Given the description of an element on the screen output the (x, y) to click on. 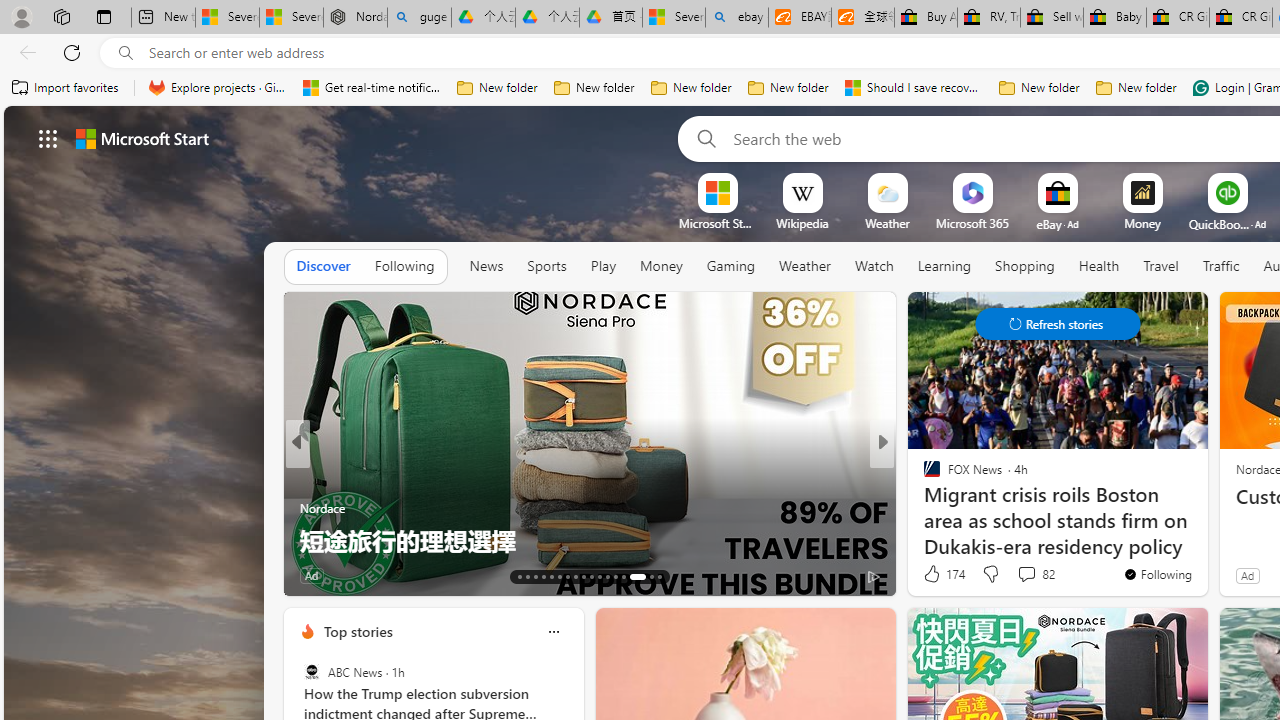
AutomationID: tab-13 (518, 576)
Weather (804, 267)
Money (661, 267)
Shopping (1025, 265)
Shopping (1025, 267)
Search icon (125, 53)
Discover (323, 267)
Gaming (730, 267)
AutomationID: tab-22 (591, 576)
Money (660, 265)
New folder (1136, 88)
